Given the description of an element on the screen output the (x, y) to click on. 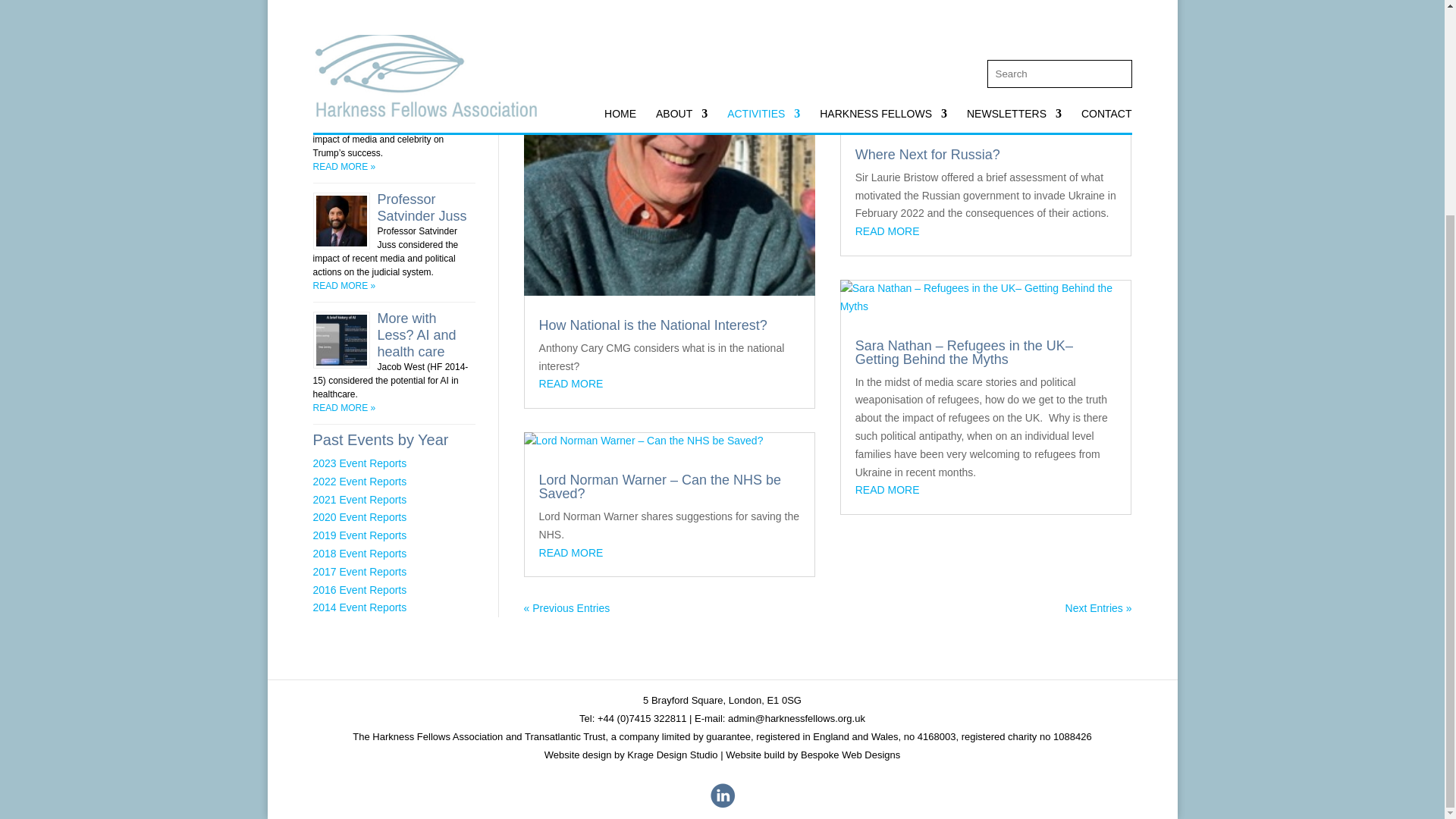
View all posts filed under 2016 Event Reports (359, 589)
LinkedIn (721, 805)
View all posts filed under 2017 Event Reports (359, 571)
View all posts filed under 2014 Event Reports (359, 607)
View all posts filed under 2022 Event Reports (359, 481)
Bespoke Web Designs (849, 754)
View all posts filed under 2023 Event Reports (359, 463)
View all posts filed under 2020 Event Reports (359, 517)
View all posts filed under 2018 Event Reports (359, 553)
View all posts filed under 2021 Event Reports (359, 499)
